Given the description of an element on the screen output the (x, y) to click on. 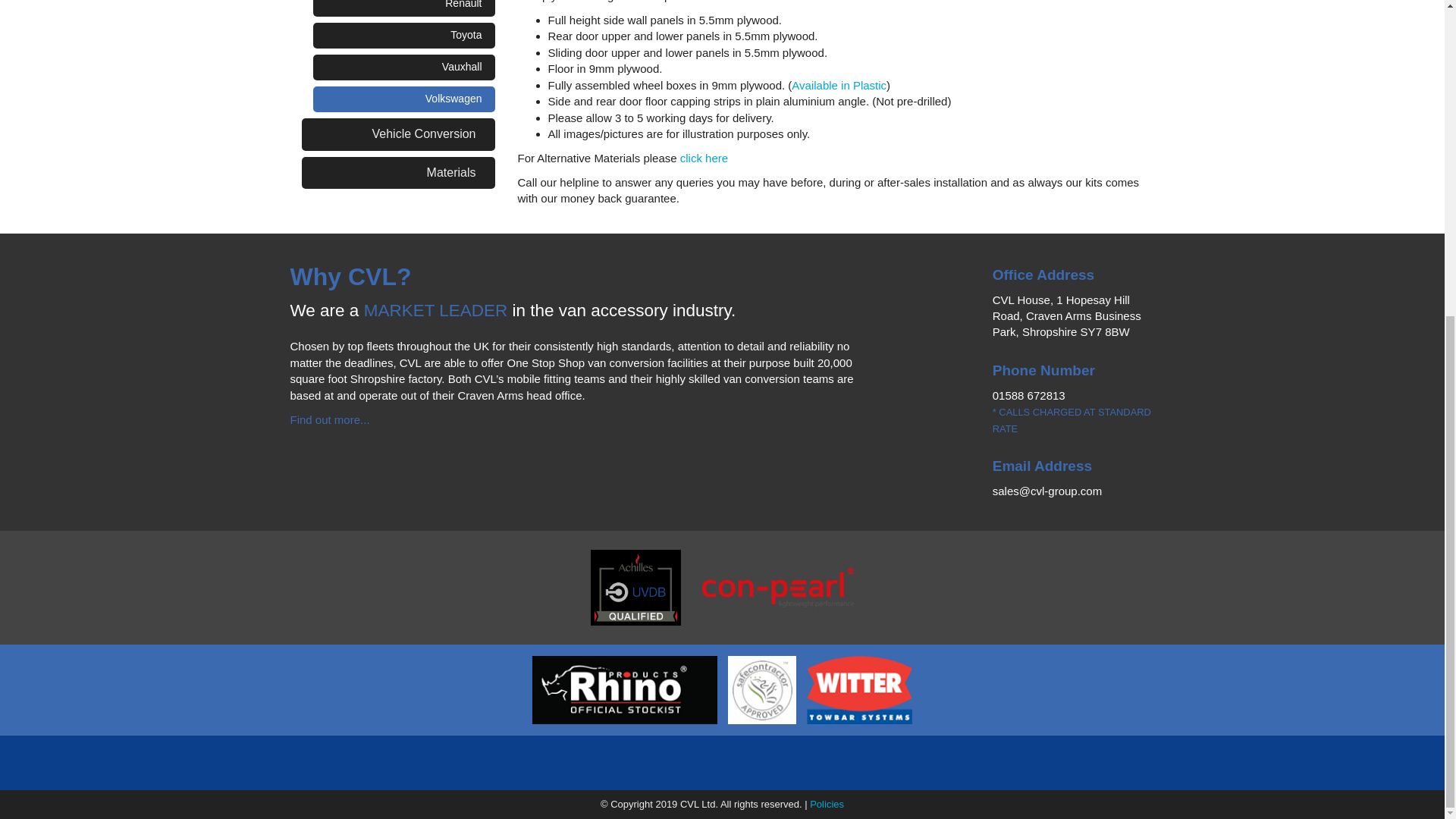
SAFEcontractor Approved (761, 682)
Witter Official Stockist (859, 682)
Rhino Official Stockist (624, 682)
